Given the description of an element on the screen output the (x, y) to click on. 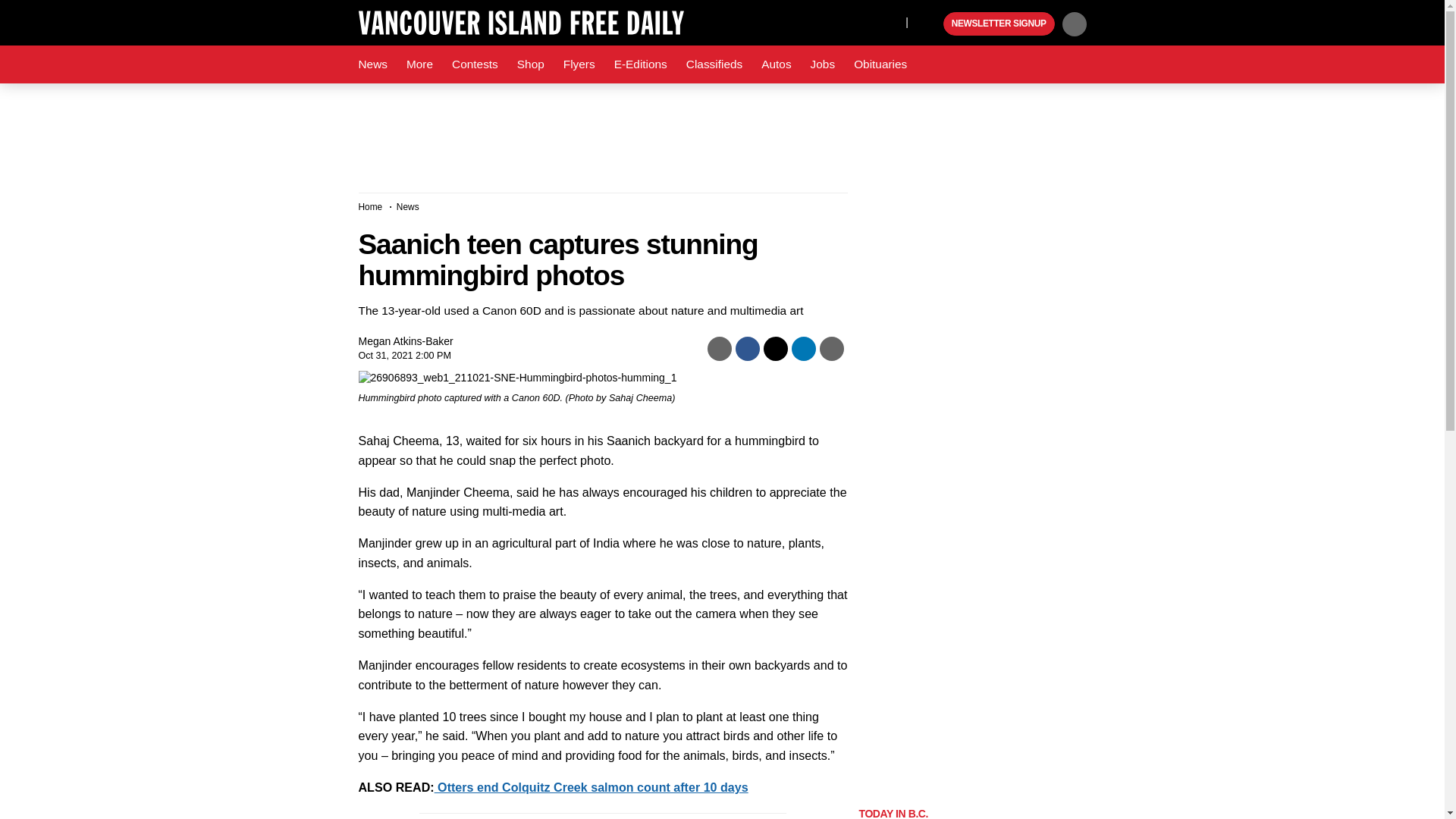
X (853, 21)
Instagram (889, 21)
Black Press Media (929, 24)
NEWSLETTER SIGNUP (998, 24)
Play (929, 24)
Facebook (823, 21)
News (372, 64)
